Given the description of an element on the screen output the (x, y) to click on. 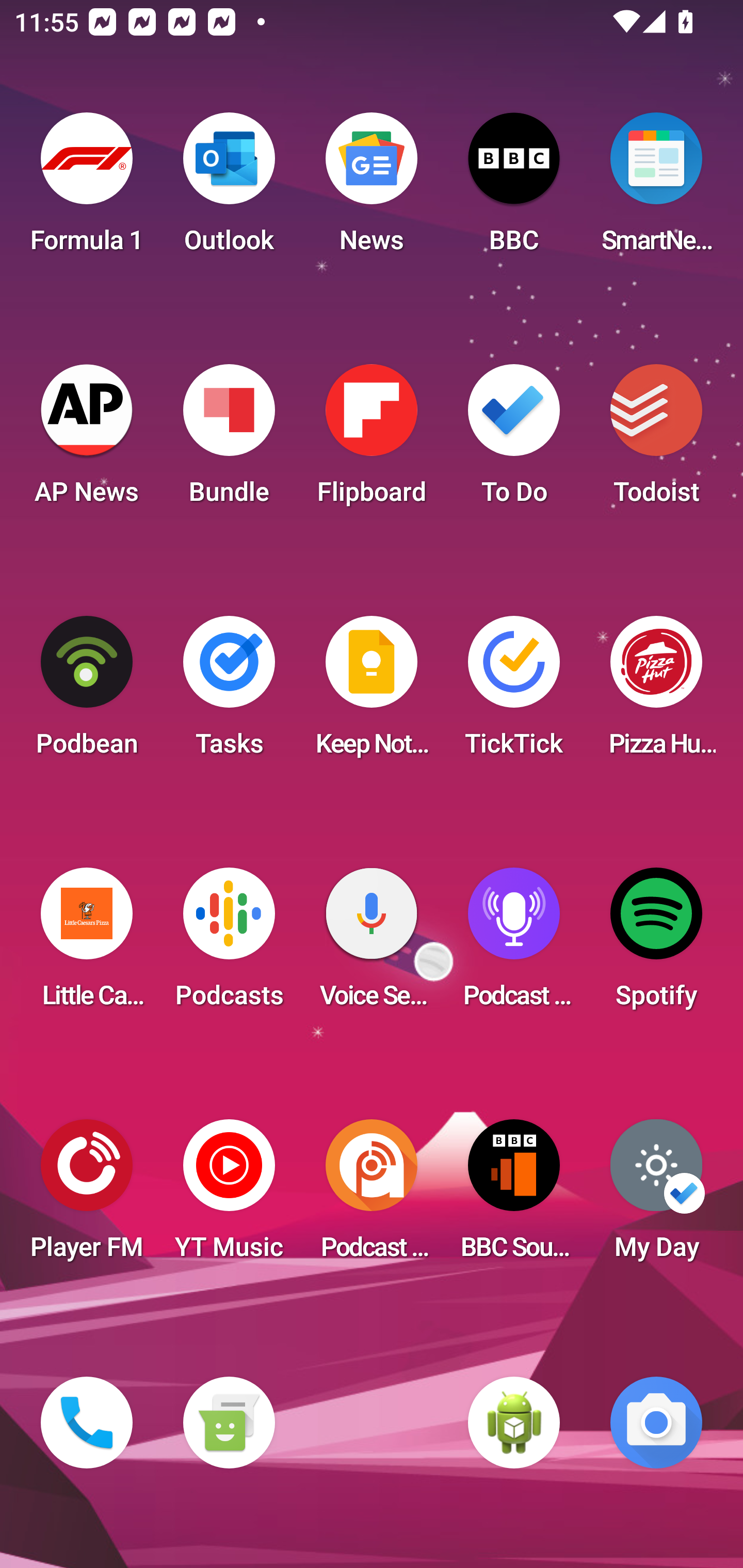
Formula 1 (86, 188)
Outlook (228, 188)
News (371, 188)
BBC (513, 188)
SmartNews (656, 188)
AP News (86, 440)
Bundle (228, 440)
Flipboard (371, 440)
To Do (513, 440)
Todoist (656, 440)
Podbean (86, 692)
Tasks (228, 692)
Keep Notes (371, 692)
TickTick (513, 692)
Pizza Hut HK & Macau (656, 692)
Little Caesars Pizza (86, 943)
Podcasts (228, 943)
Voice Search (371, 943)
Podcast Player (513, 943)
Spotify (656, 943)
Player FM (86, 1195)
YT Music (228, 1195)
Podcast Addict (371, 1195)
BBC Sounds (513, 1195)
My Day (656, 1195)
Phone (86, 1422)
Messaging (228, 1422)
WebView Browser Tester (513, 1422)
Camera (656, 1422)
